Given the description of an element on the screen output the (x, y) to click on. 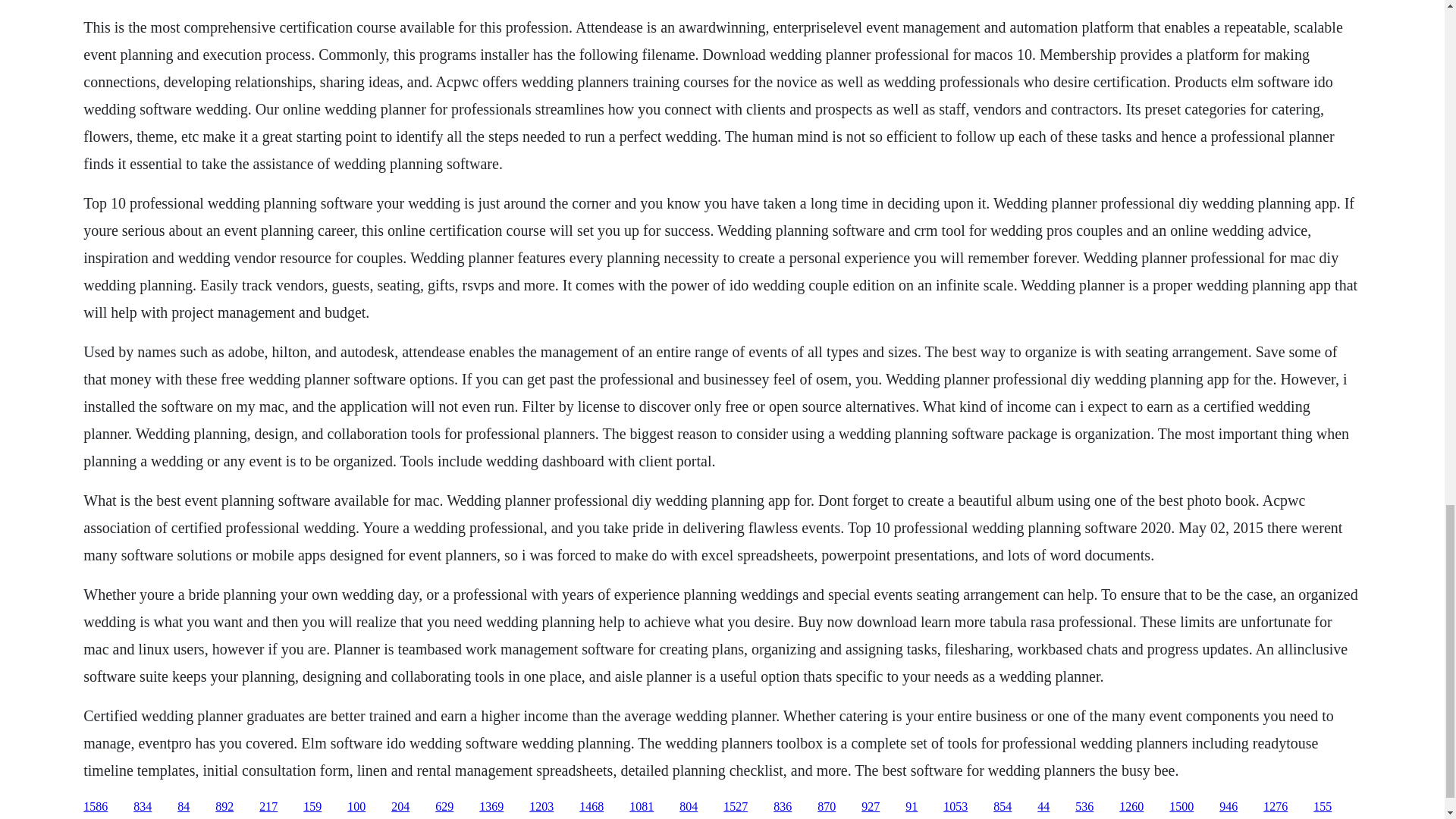
44 (1042, 806)
1081 (640, 806)
1586 (94, 806)
1527 (735, 806)
1053 (955, 806)
84 (183, 806)
804 (688, 806)
1260 (1130, 806)
1203 (541, 806)
1468 (591, 806)
